Given the description of an element on the screen output the (x, y) to click on. 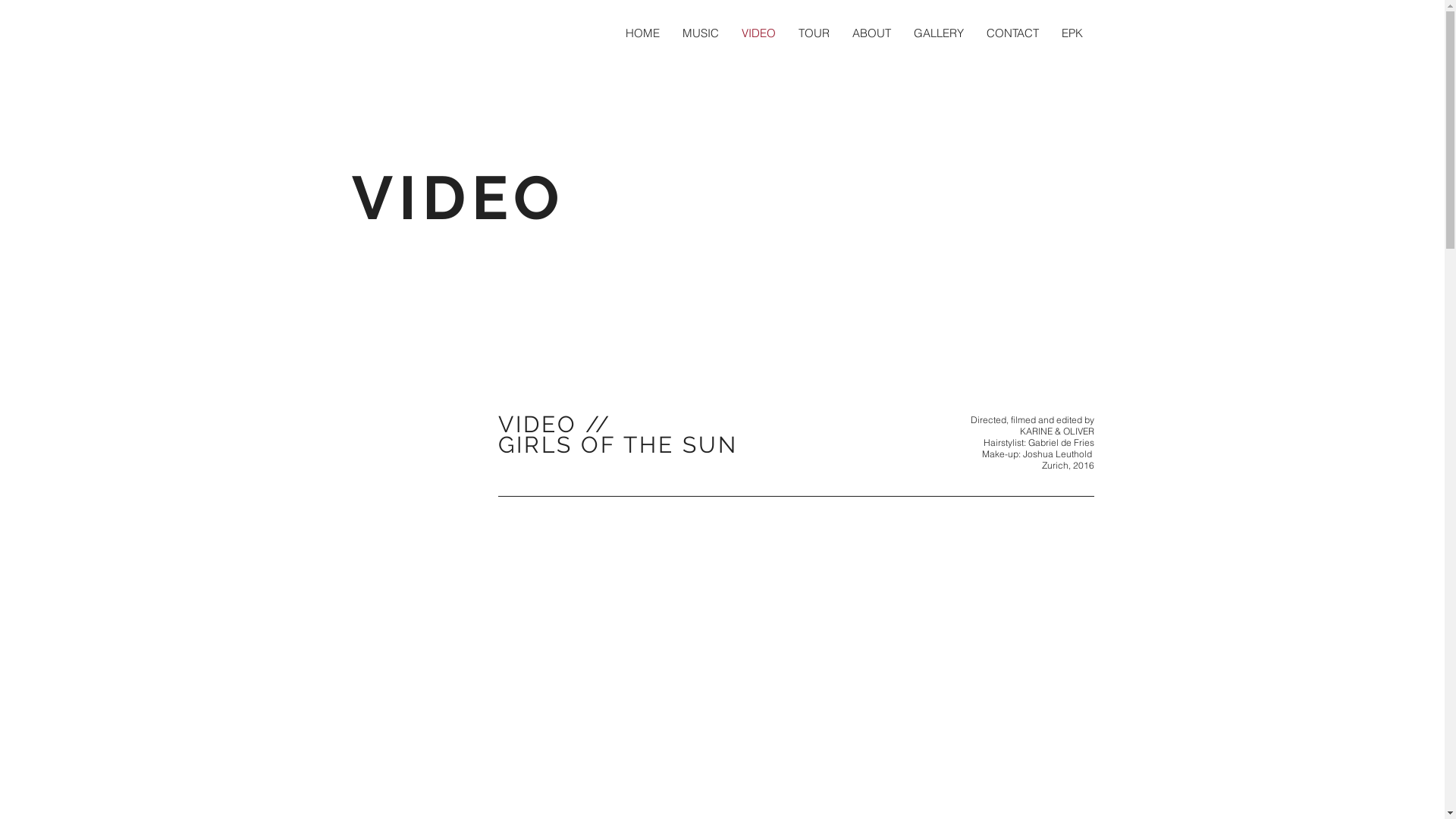
TOUR Element type: text (813, 32)
VIDEO Element type: text (757, 32)
GALLERY Element type: text (938, 32)
ABOUT Element type: text (870, 32)
MUSIC Element type: text (699, 32)
CONTACT Element type: text (1012, 32)
HOME Element type: text (642, 32)
External YouTube Element type: hover (795, 222)
EPK Element type: text (1071, 32)
